Given the description of an element on the screen output the (x, y) to click on. 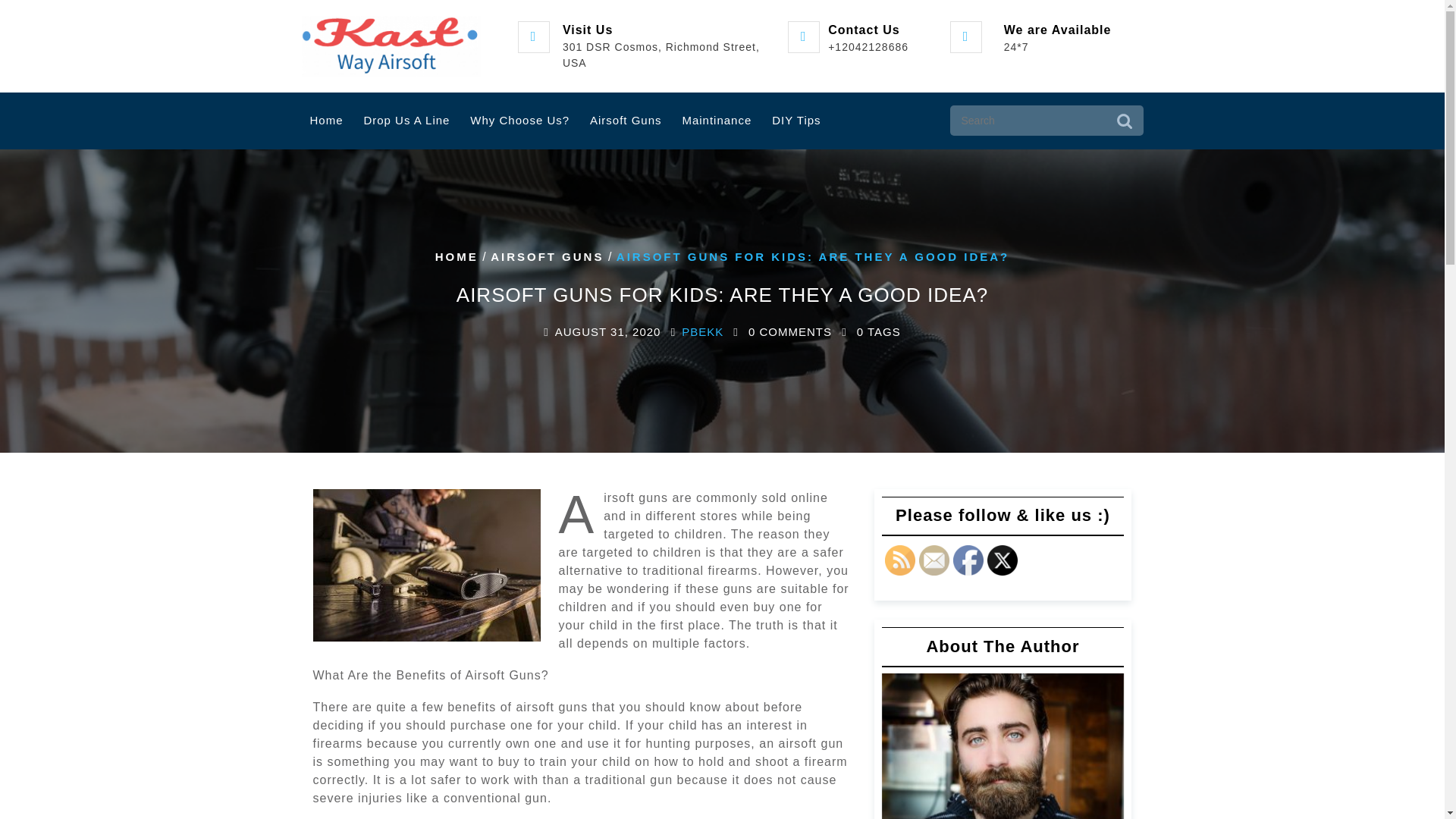
Why Choose Us? (519, 121)
DIY Tips (795, 121)
Airsoft Guns (624, 121)
Follow by Email (933, 560)
Home (326, 121)
PBEKK (702, 332)
Facebook (967, 560)
AIRSOFT GUNS (547, 256)
RSS (898, 560)
HOME (457, 256)
